Given the description of an element on the screen output the (x, y) to click on. 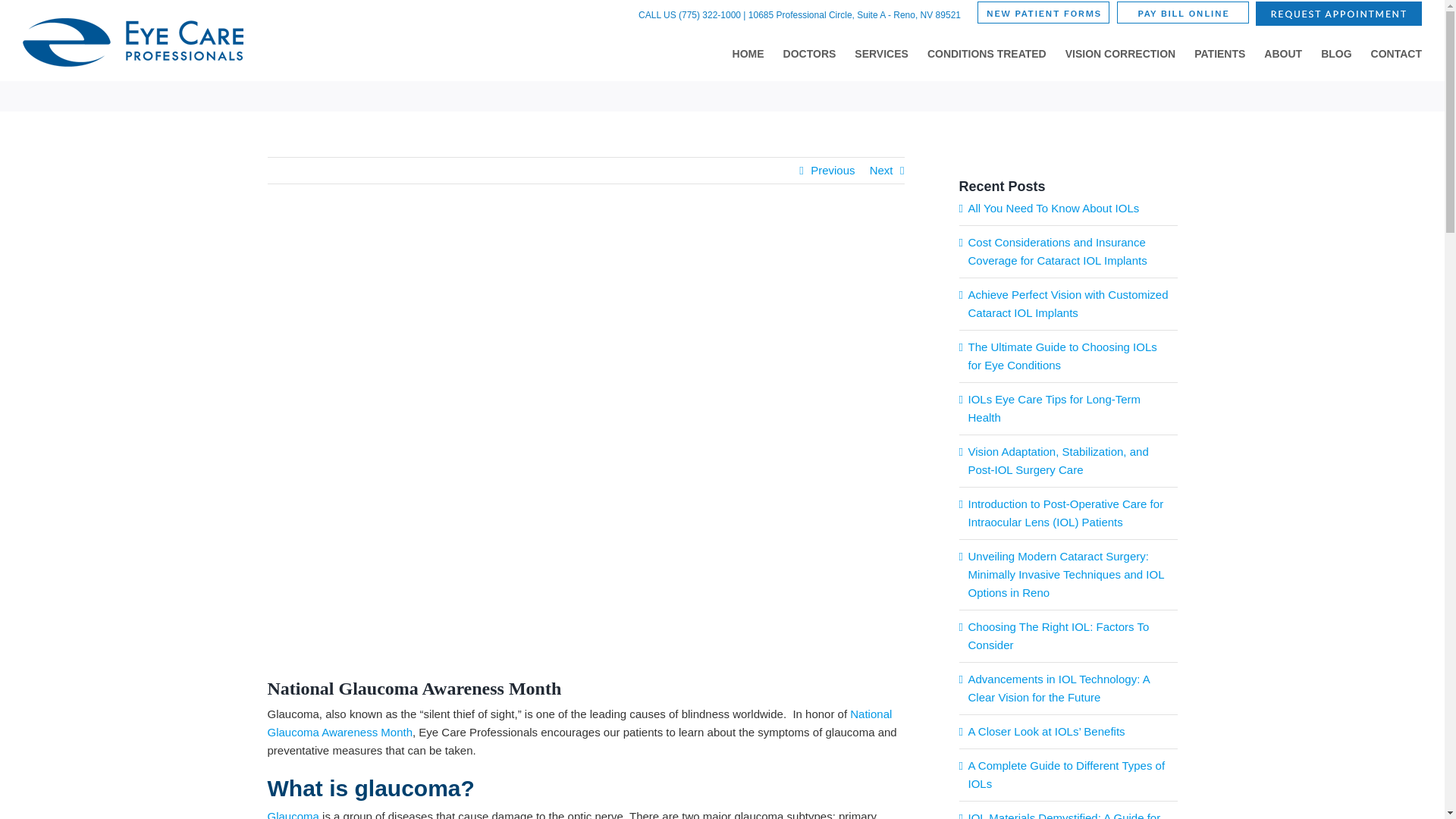
SERVICES (881, 53)
DOCTORS (809, 53)
VISION CORRECTION (1119, 53)
CONDITIONS TREATED (986, 53)
Pay Bill Online (1182, 12)
